Given the description of an element on the screen output the (x, y) to click on. 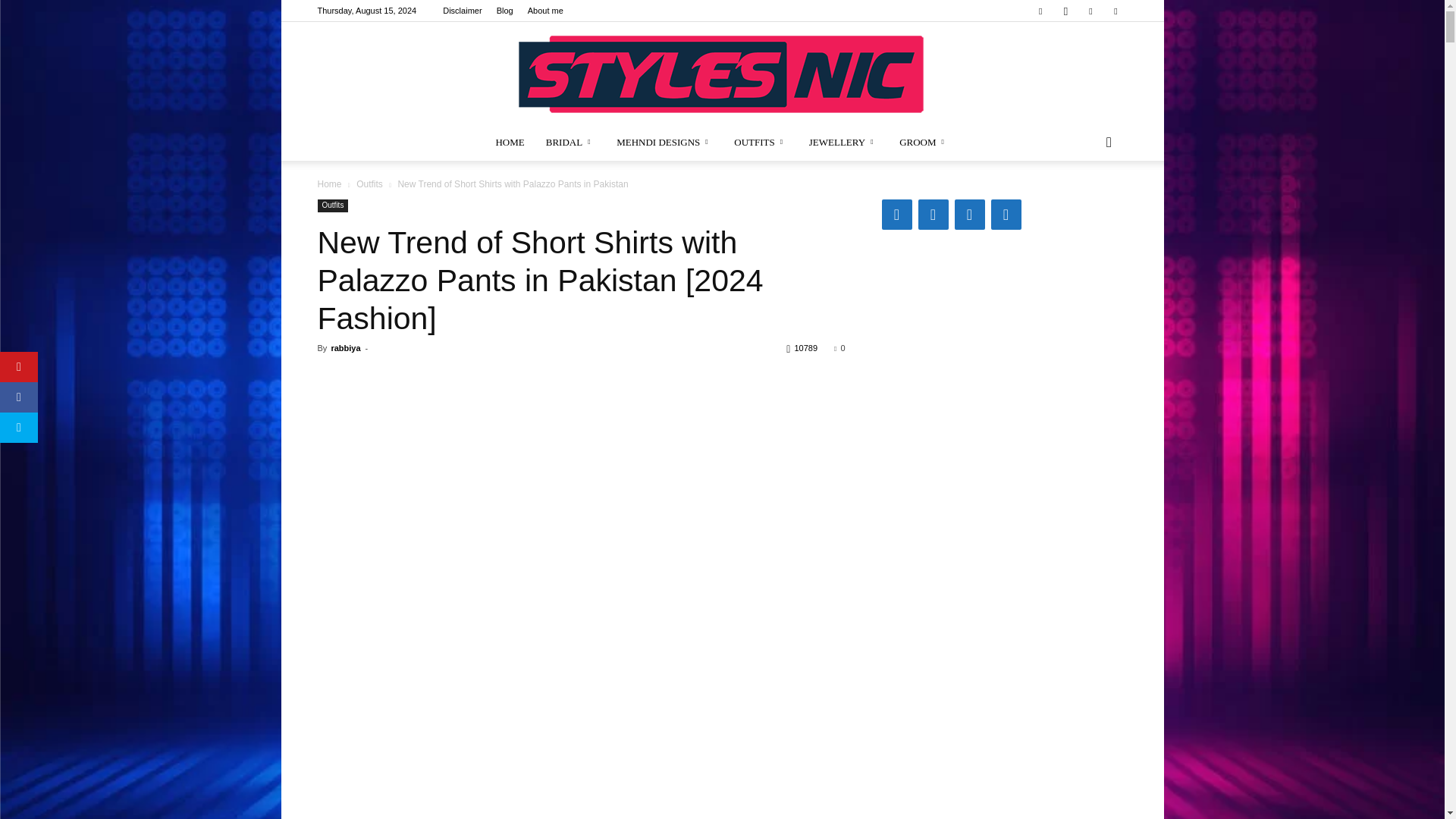
Instagram (1065, 10)
BRIDAL (570, 142)
Pinterest (1090, 10)
HOME (509, 142)
Blog (504, 10)
StylesNic (722, 73)
Disclaimer (461, 10)
Twitter (1114, 10)
Facebook (1040, 10)
About me (545, 10)
